Given the description of an element on the screen output the (x, y) to click on. 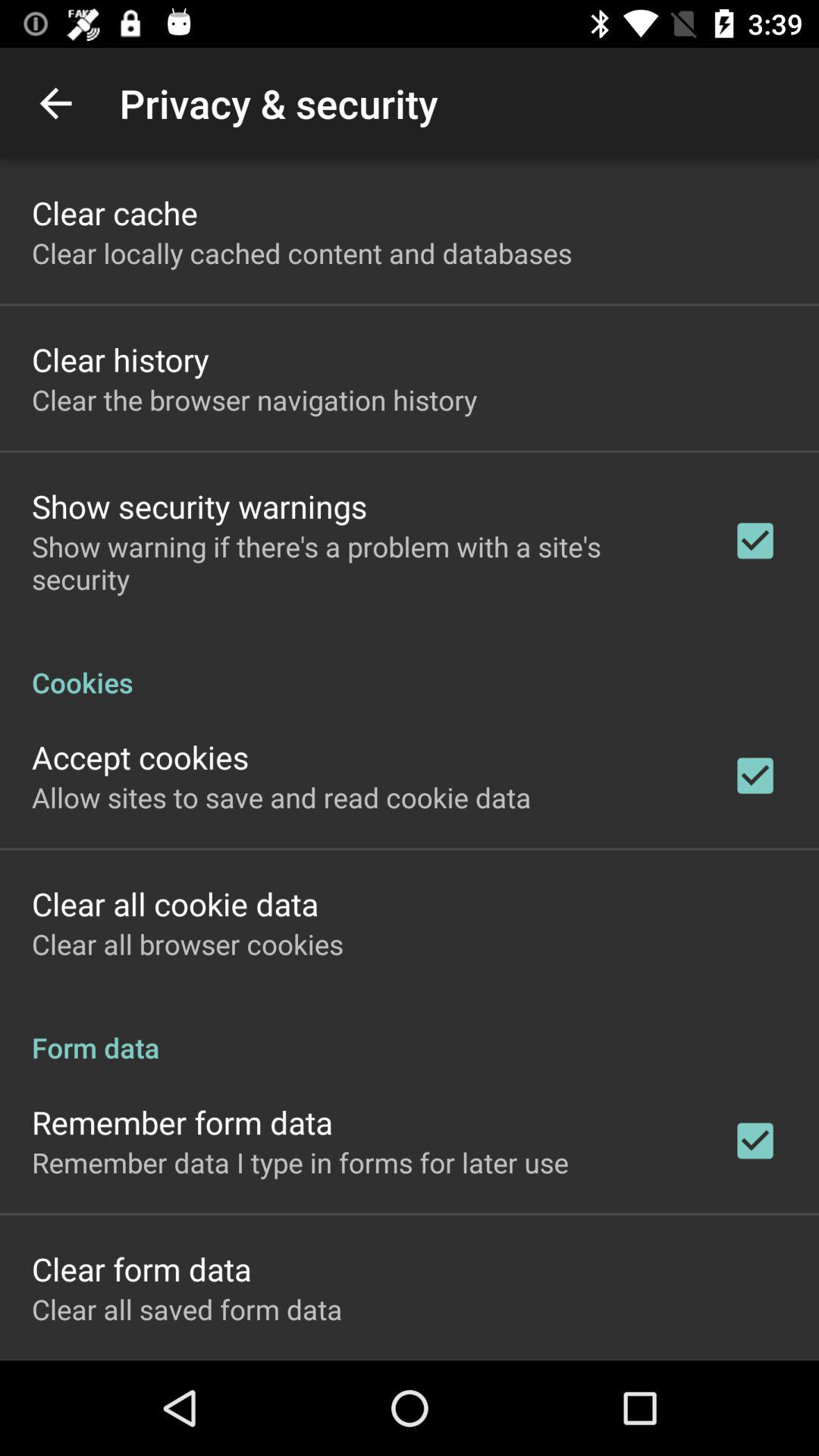
turn on icon above clear cache app (55, 103)
